Given the description of an element on the screen output the (x, y) to click on. 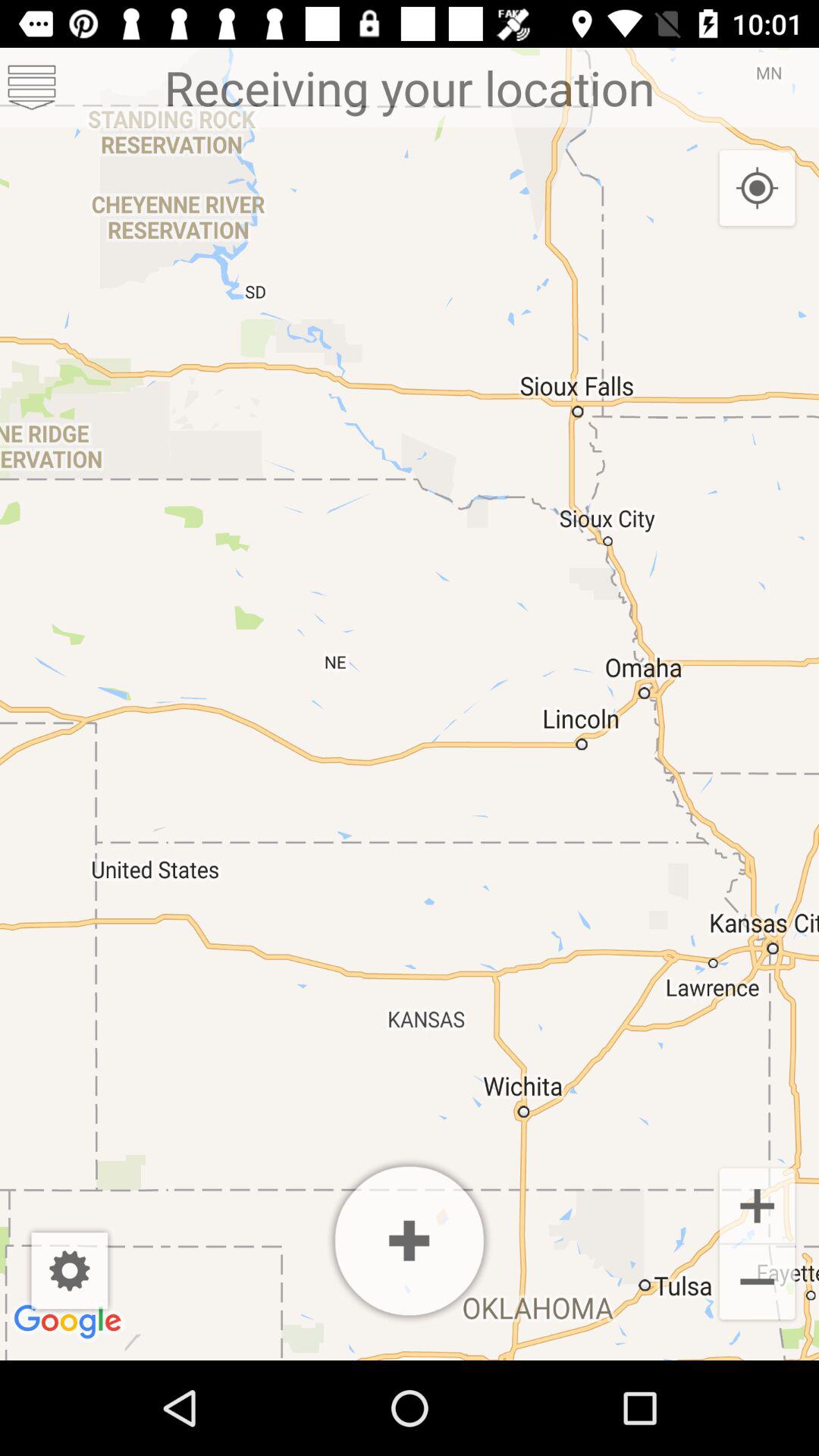
go to menu bar (31, 87)
